Given the description of an element on the screen output the (x, y) to click on. 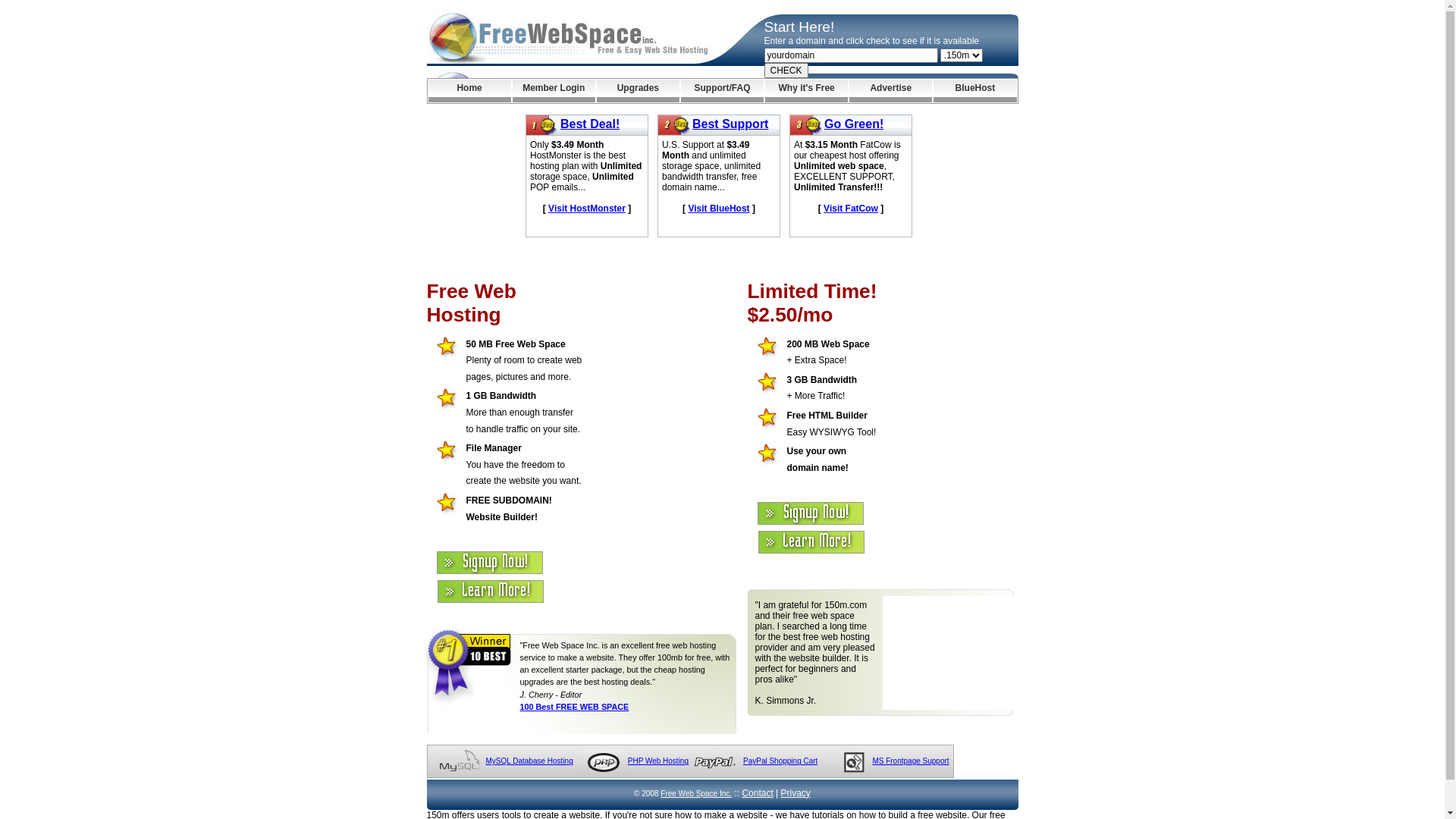
PHP Web Hosting Element type: text (657, 760)
Support/FAQ Element type: text (721, 90)
BlueHost Element type: text (974, 90)
Upgrades Element type: text (637, 90)
Why it's Free Element type: text (806, 90)
PayPal Shopping Cart Element type: text (780, 760)
Advertise Element type: text (890, 90)
Member Login Element type: text (553, 90)
100 Best FREE WEB SPACE Element type: text (574, 706)
MySQL Database Hosting Element type: text (528, 760)
Privacy Element type: text (795, 792)
CHECK Element type: text (786, 70)
MS Frontpage Support Element type: text (910, 760)
Home Element type: text (468, 90)
Free Web Space Inc. Element type: text (695, 793)
Contact Element type: text (756, 792)
